Given the description of an element on the screen output the (x, y) to click on. 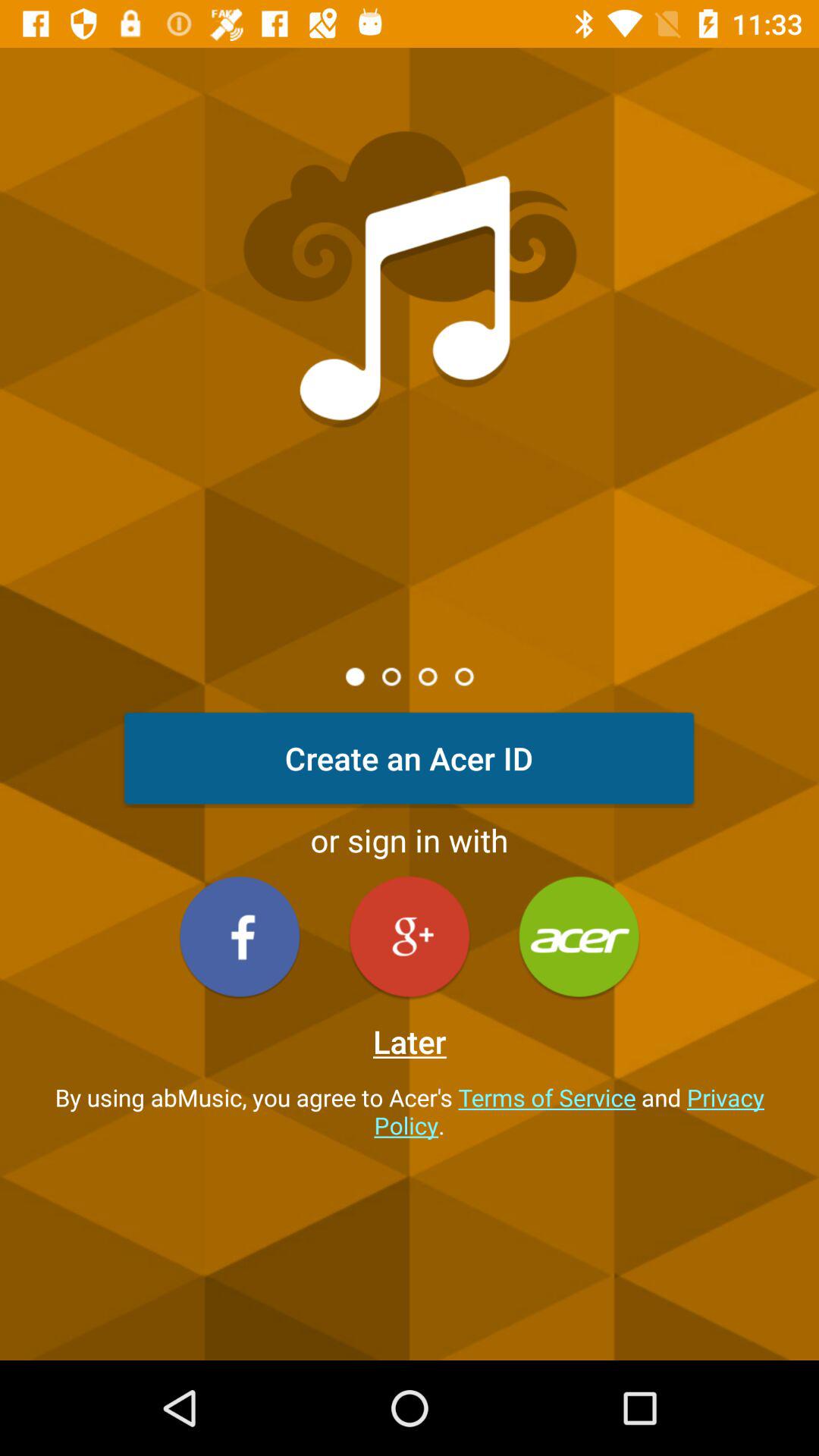
go to google button (409, 936)
